Given the description of an element on the screen output the (x, y) to click on. 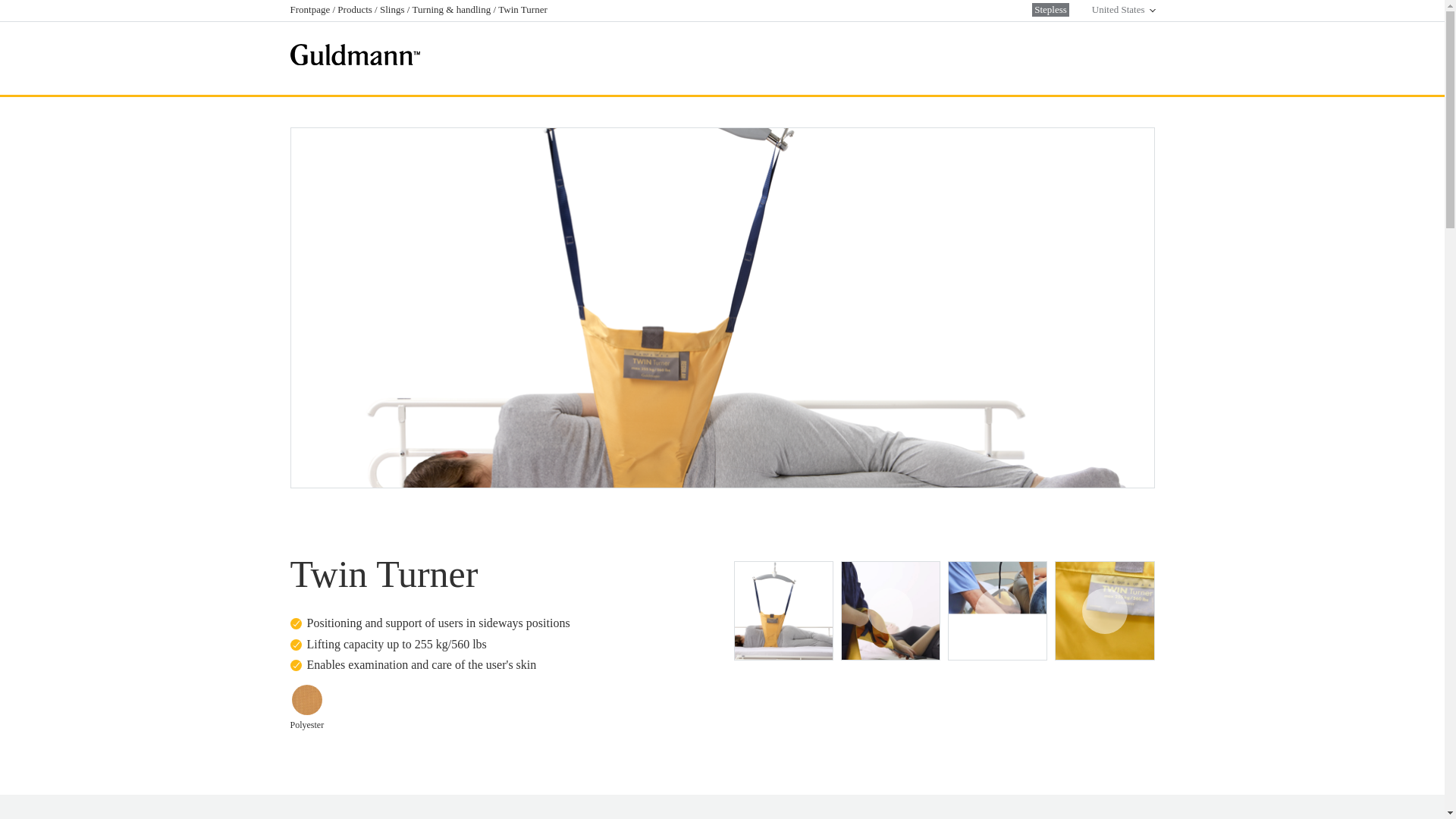
Stepless (1050, 9)
Slings  (393, 9)
Twin Turner  (523, 9)
Products  (355, 9)
Frontpage  (310, 9)
